Given the description of an element on the screen output the (x, y) to click on. 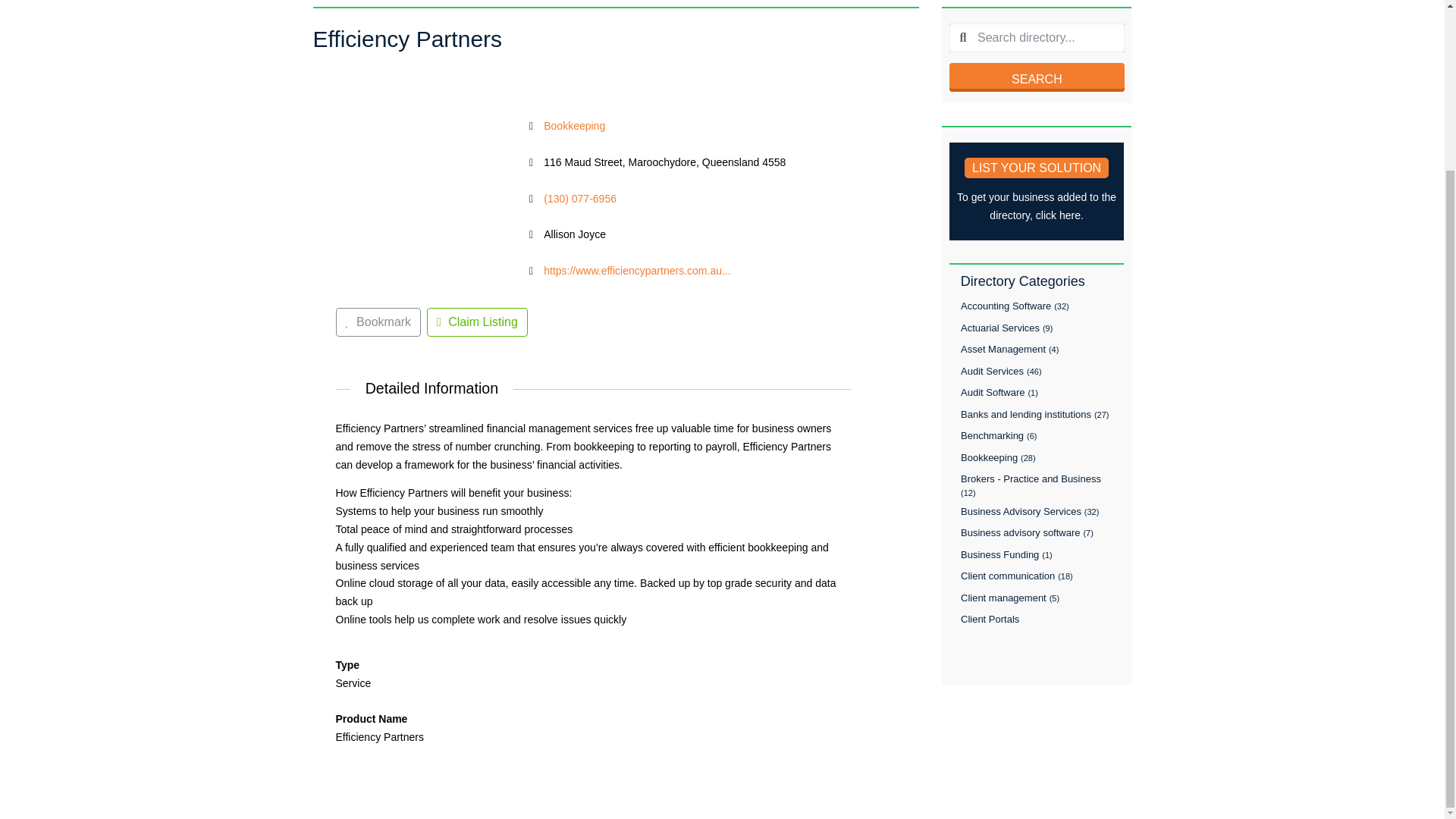
Bookmark (377, 321)
Audit Services (991, 369)
Accounting Software (1005, 306)
Asset Management (1002, 348)
Audit Software (992, 392)
Audit Services (991, 369)
Claim Listing (476, 321)
Benchmarking (991, 435)
Bookkeeping (988, 456)
Asset Management (1002, 348)
Bookkeeping (574, 125)
Accounting Software (1005, 306)
Banks and lending institutions (1025, 413)
Business Advisory Services (1020, 510)
SEARCH (1036, 77)
